Given the description of an element on the screen output the (x, y) to click on. 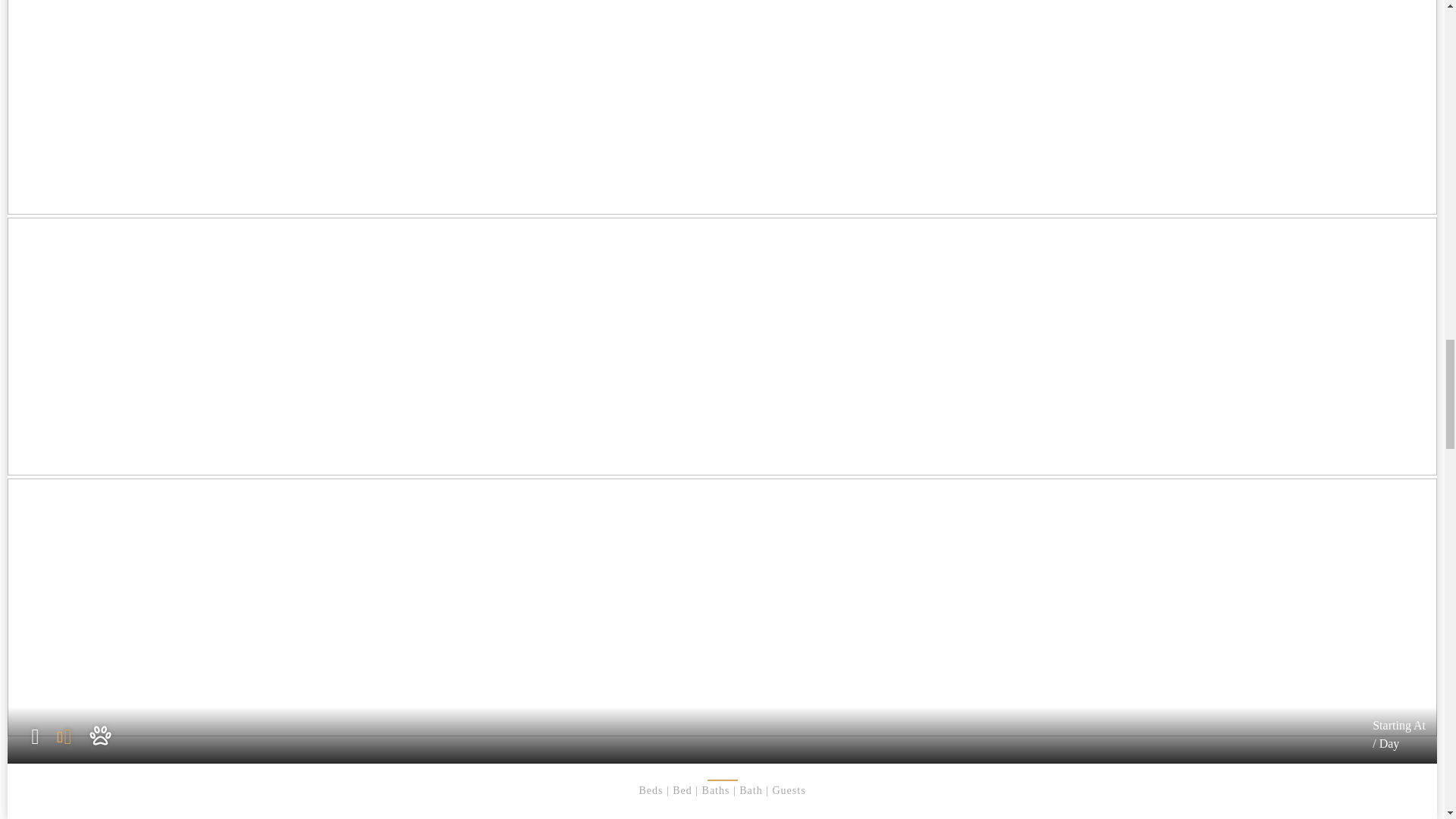
Add to favorites (34, 737)
Remove from favorites (67, 737)
Add 3 Units to Compare (75, 745)
